Given the description of an element on the screen output the (x, y) to click on. 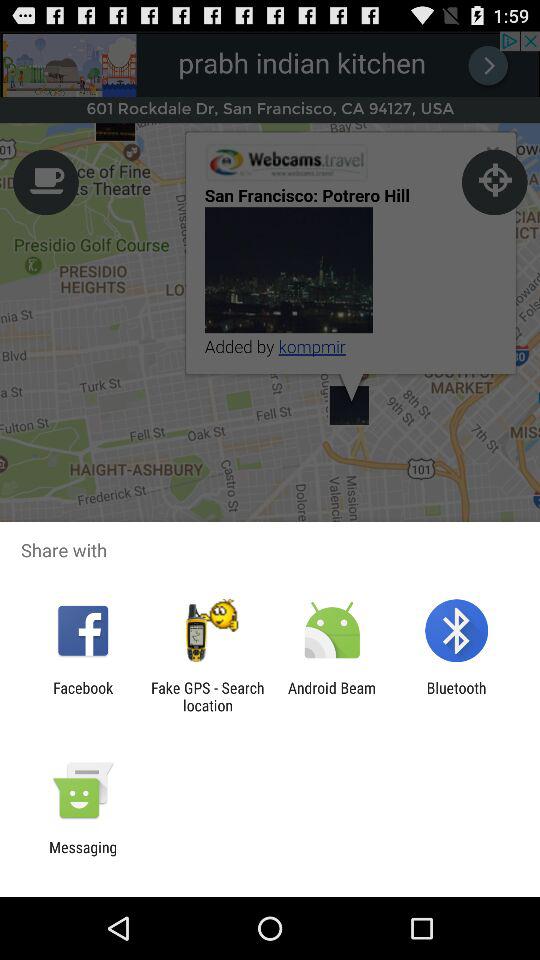
turn on the app next to the fake gps search item (83, 696)
